Given the description of an element on the screen output the (x, y) to click on. 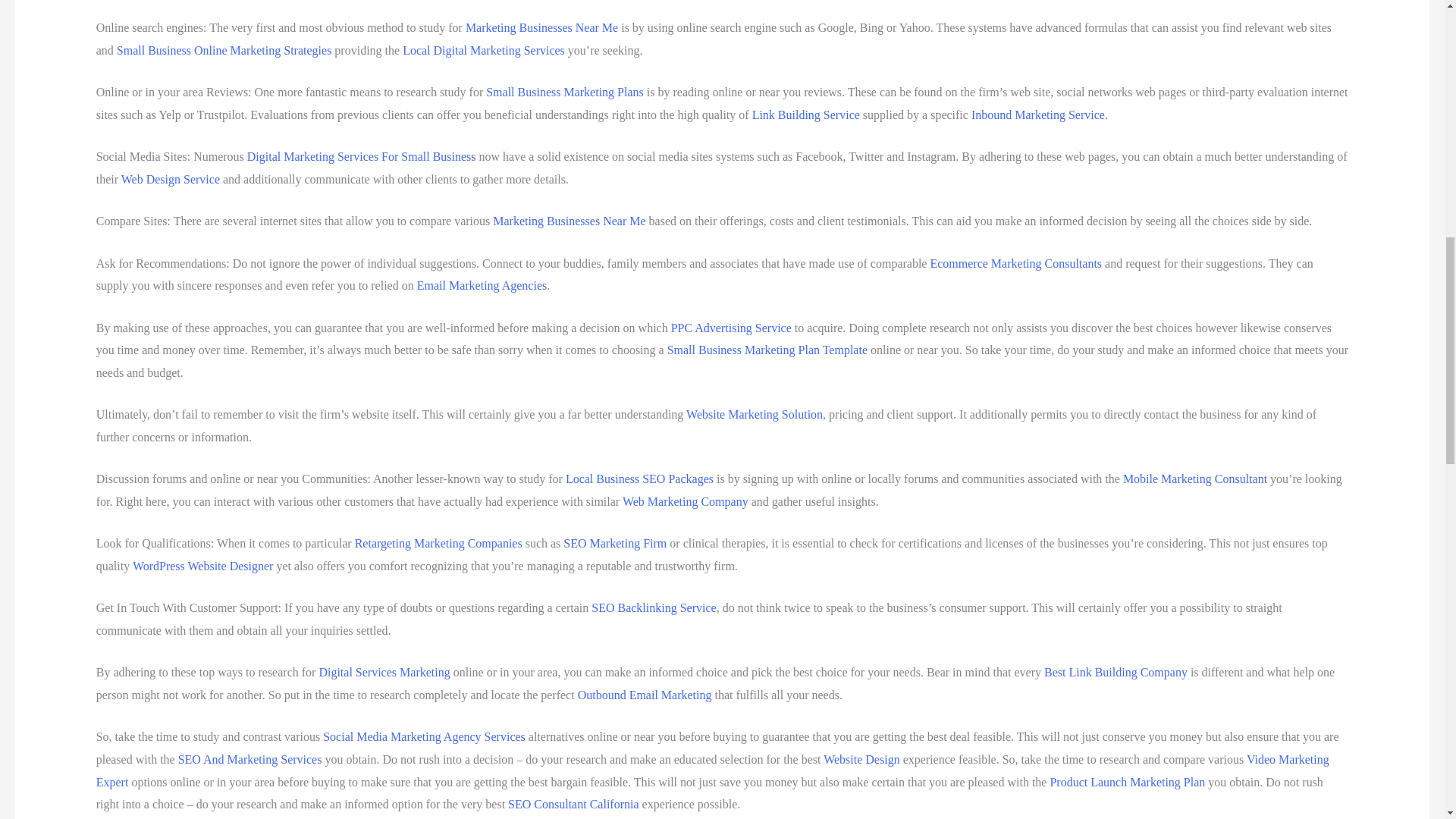
Small Business Online Marketing Strategies (223, 50)
Small Business Marketing Plans (564, 91)
Local Digital Marketing Services (483, 50)
Marketing Businesses Near Me (541, 27)
